Given the description of an element on the screen output the (x, y) to click on. 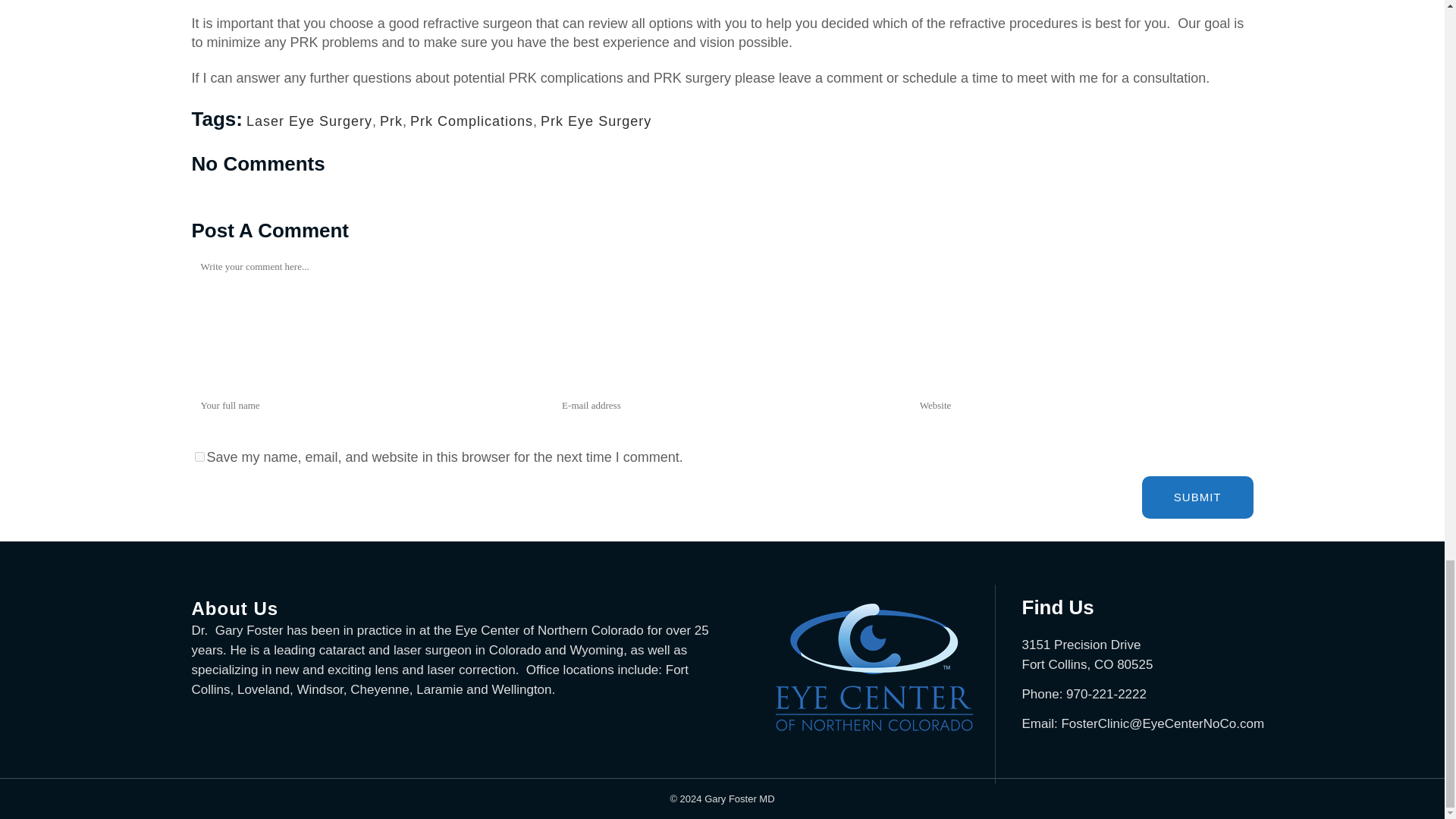
Submit (1197, 496)
yes (198, 456)
